Given the description of an element on the screen output the (x, y) to click on. 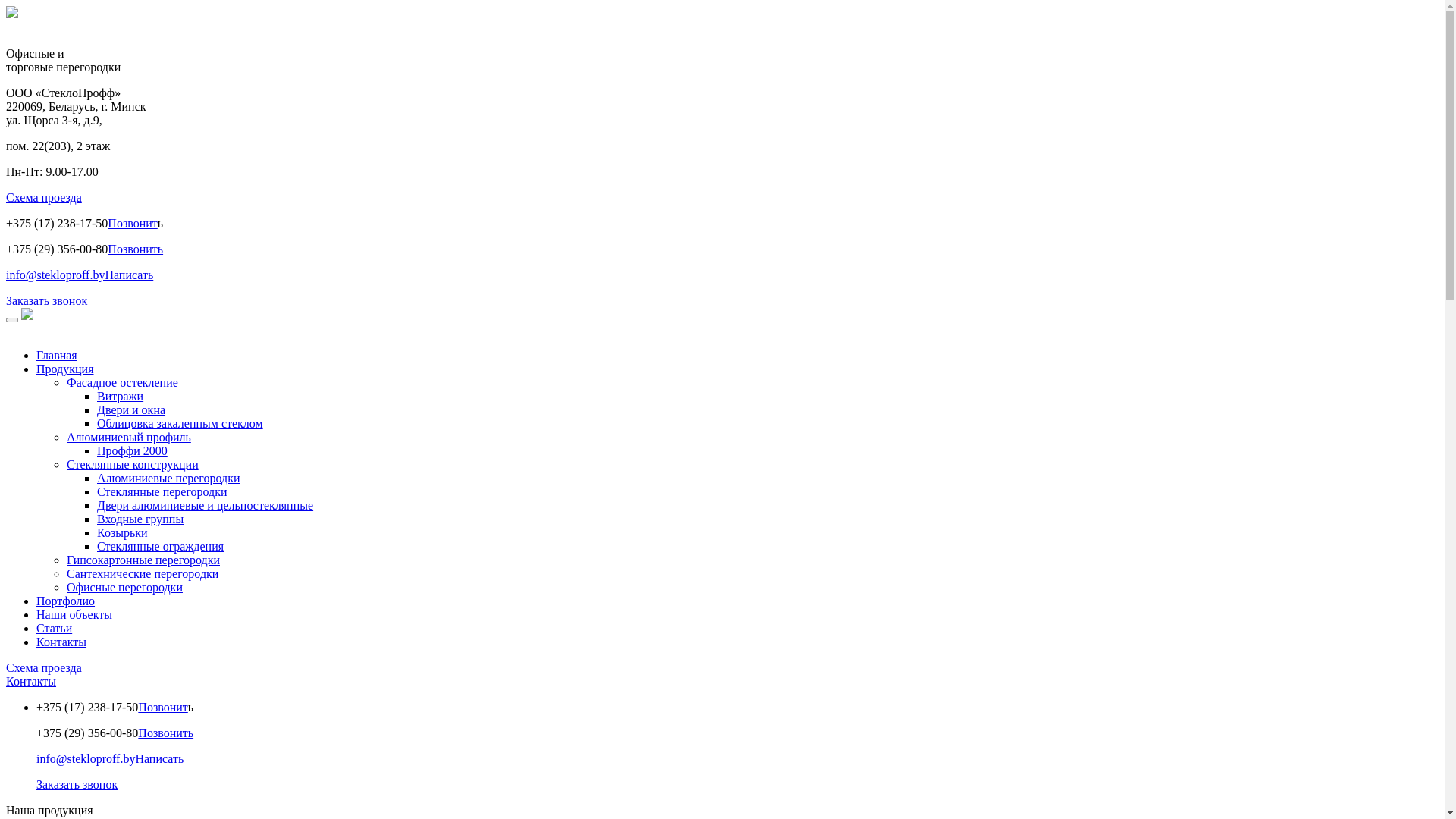
info@stekloproff.by Element type: text (55, 274)
info@stekloproff.by Element type: text (85, 758)
